Given the description of an element on the screen output the (x, y) to click on. 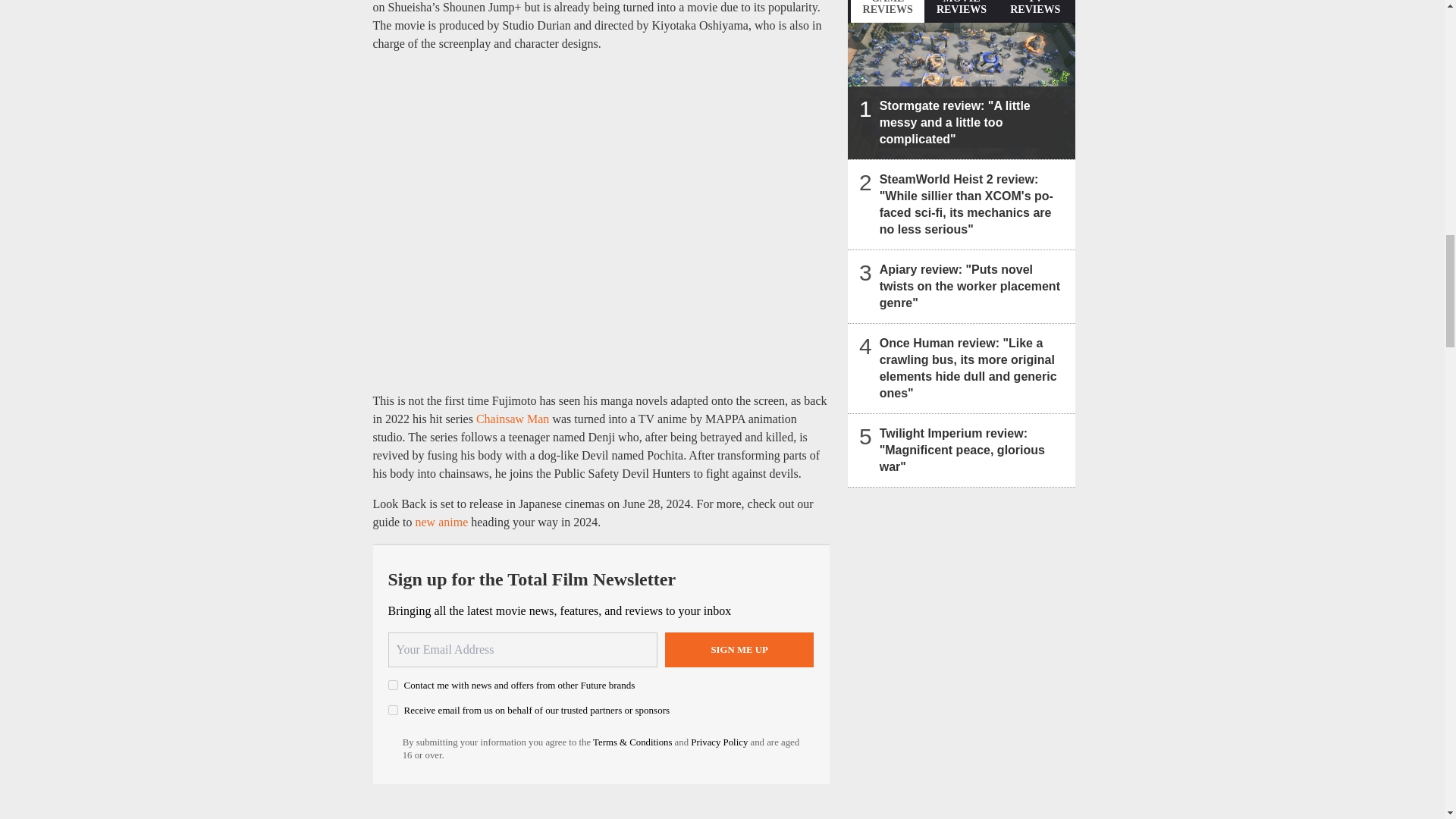
Sign me up (739, 649)
on (392, 709)
on (392, 685)
